Given the description of an element on the screen output the (x, y) to click on. 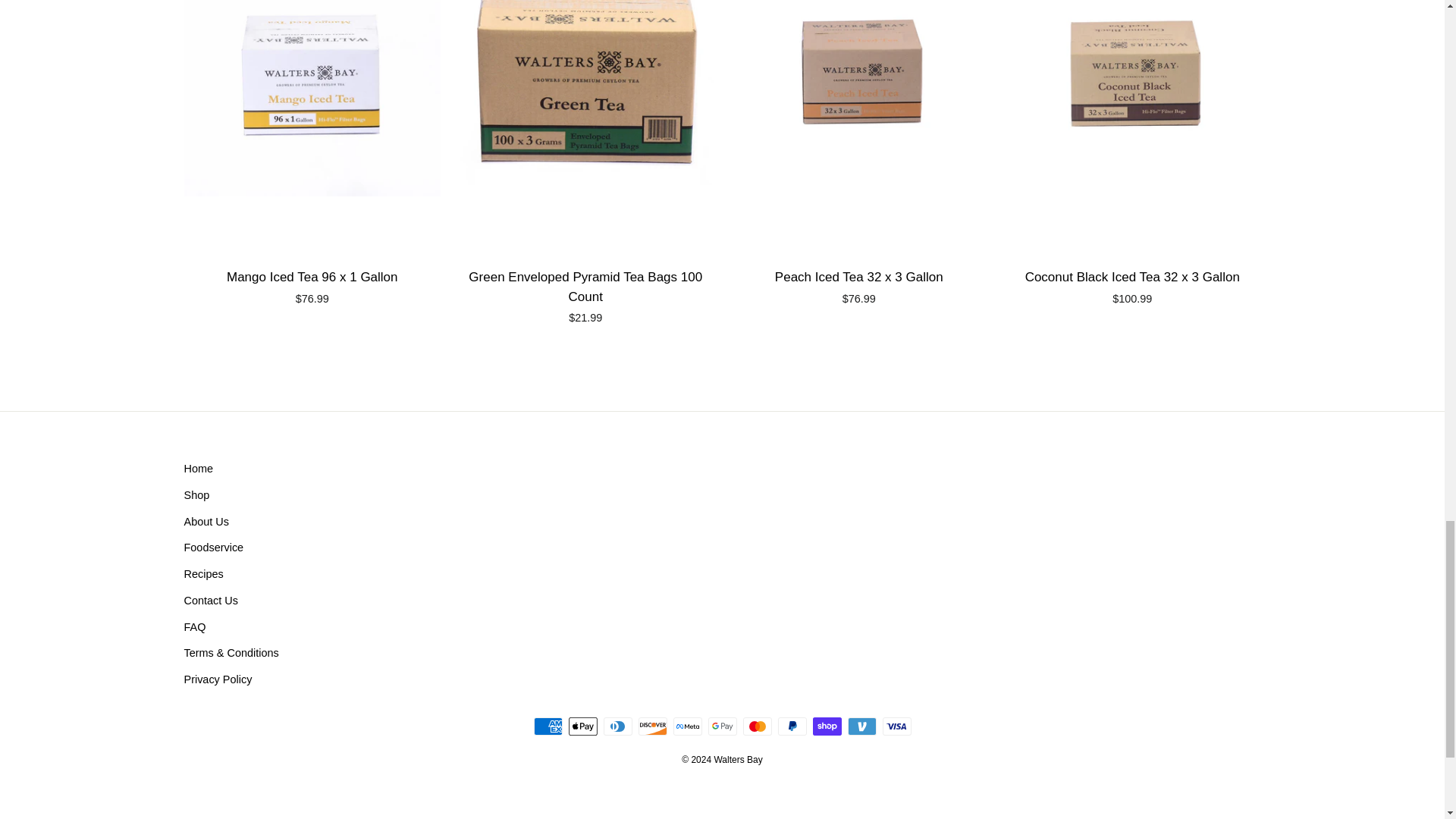
American Express (548, 726)
Apple Pay (582, 726)
Meta Pay (686, 726)
Diners Club (617, 726)
Discover (652, 726)
